Given the description of an element on the screen output the (x, y) to click on. 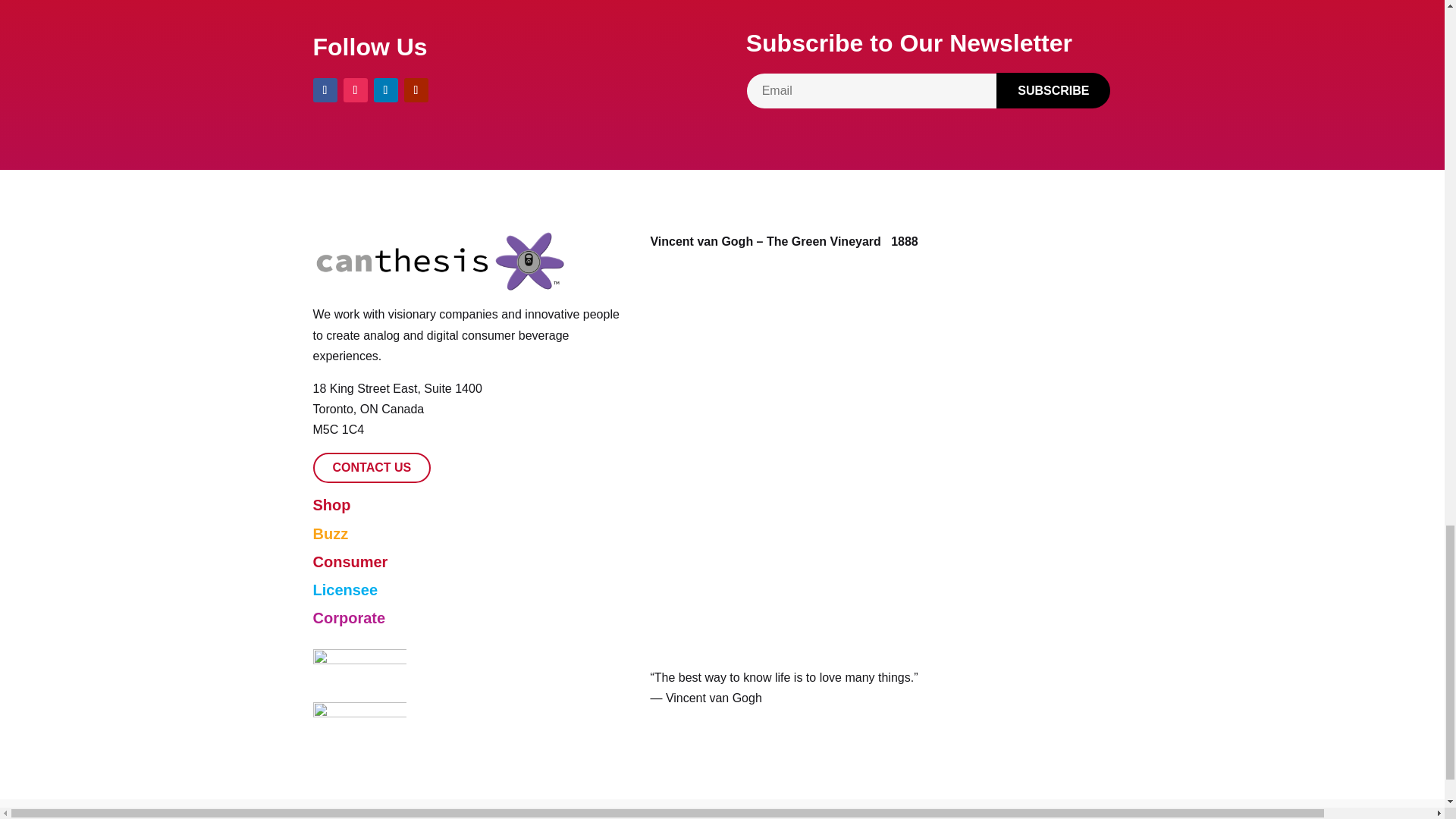
SUBSCRIBE (1052, 90)
Follow on Youtube (415, 89)
Button-Enjoy-Responsibly (359, 669)
Follow on Facebook (324, 89)
Follow on Instagram (354, 89)
BBB-Logo (359, 719)
canthesis-dark (439, 260)
Follow on LinkedIn (384, 89)
